Given the description of an element on the screen output the (x, y) to click on. 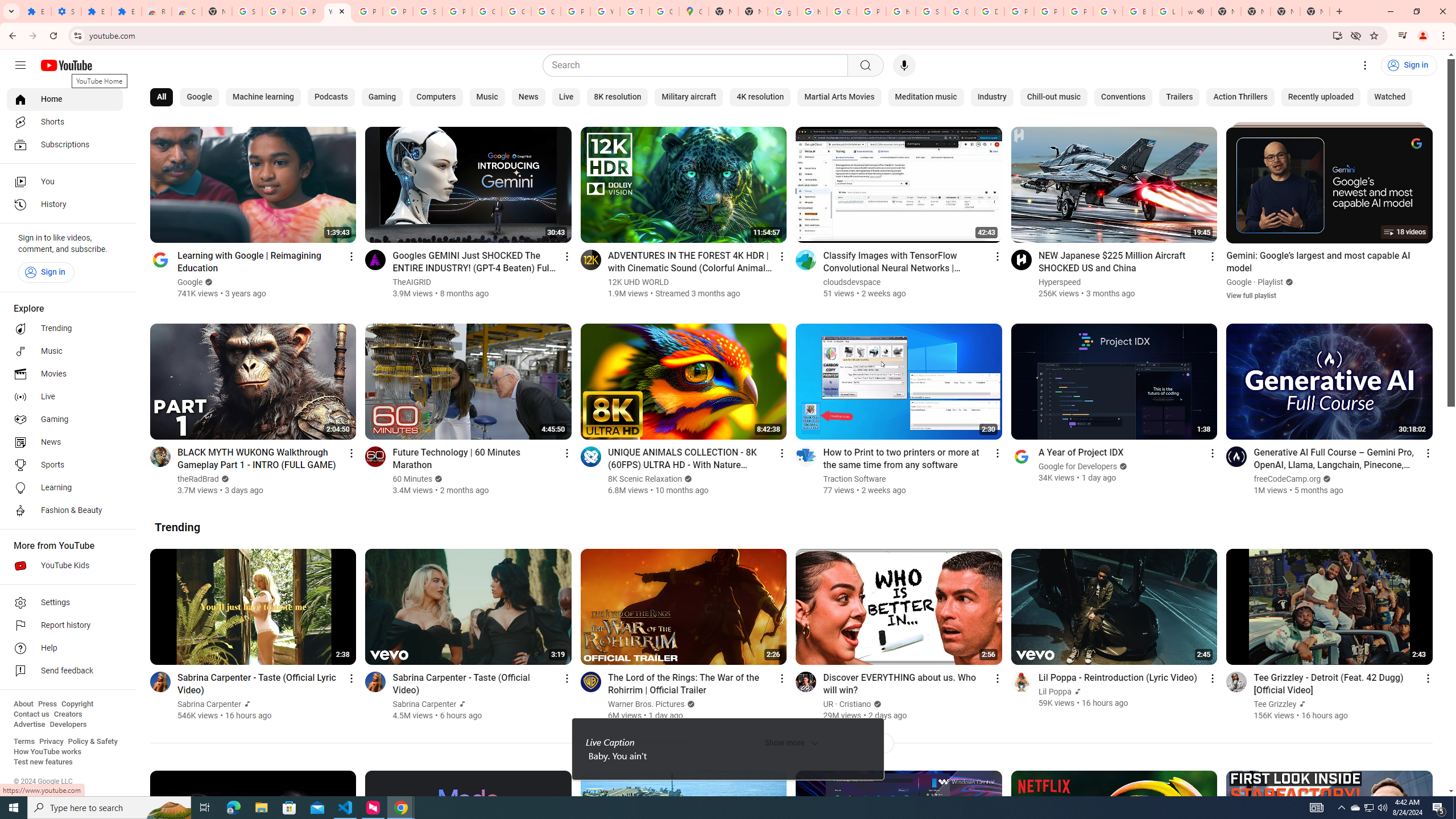
Test new features (42, 761)
Home (64, 99)
Privacy Help Center - Policies Help (1048, 11)
theRadBrad (198, 478)
Music (486, 97)
Sign in - Google Accounts (930, 11)
Fashion & Beauty (64, 510)
Music (64, 350)
Gaming (64, 419)
Trending (177, 526)
